Given the description of an element on the screen output the (x, y) to click on. 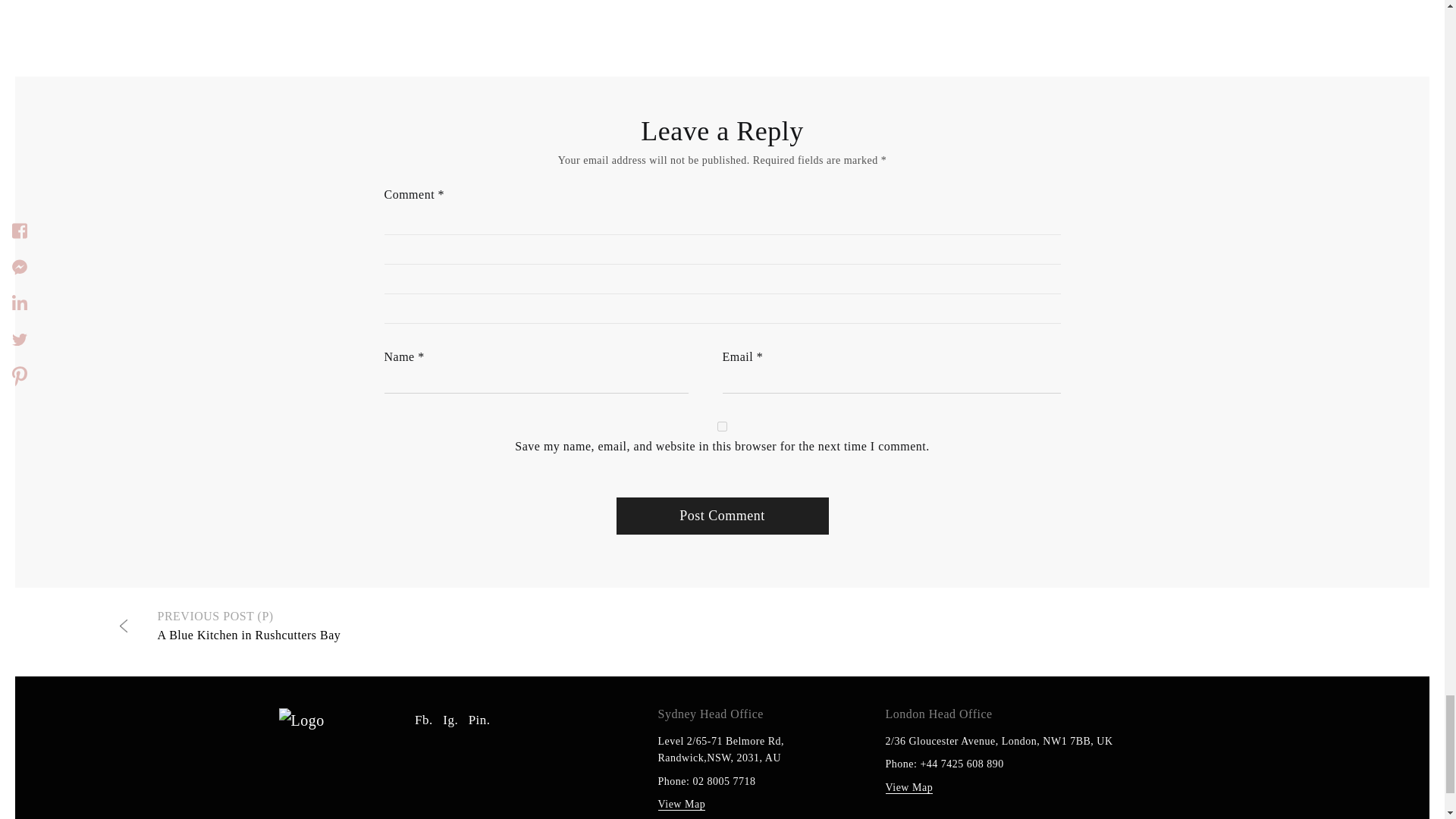
yes (721, 426)
Post Comment (721, 515)
